Given the description of an element on the screen output the (x, y) to click on. 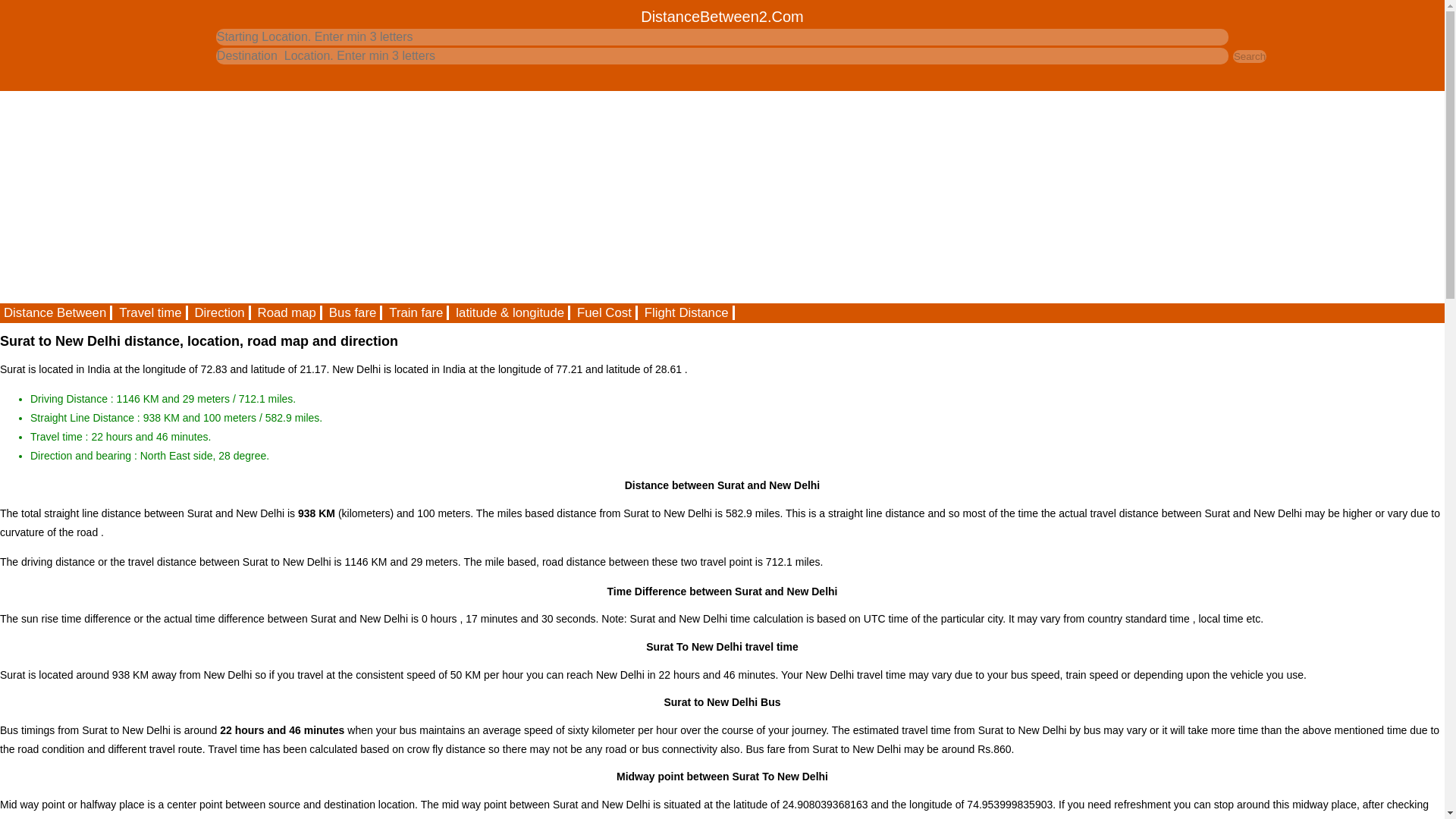
Train fare (416, 312)
Travel time (151, 312)
Distance Between (56, 312)
driving direction (220, 312)
Flight Distance (687, 312)
Road map (287, 312)
Fuel Cost (605, 312)
Search (1249, 56)
Bus fare (353, 312)
Search (1249, 56)
